Given the description of an element on the screen output the (x, y) to click on. 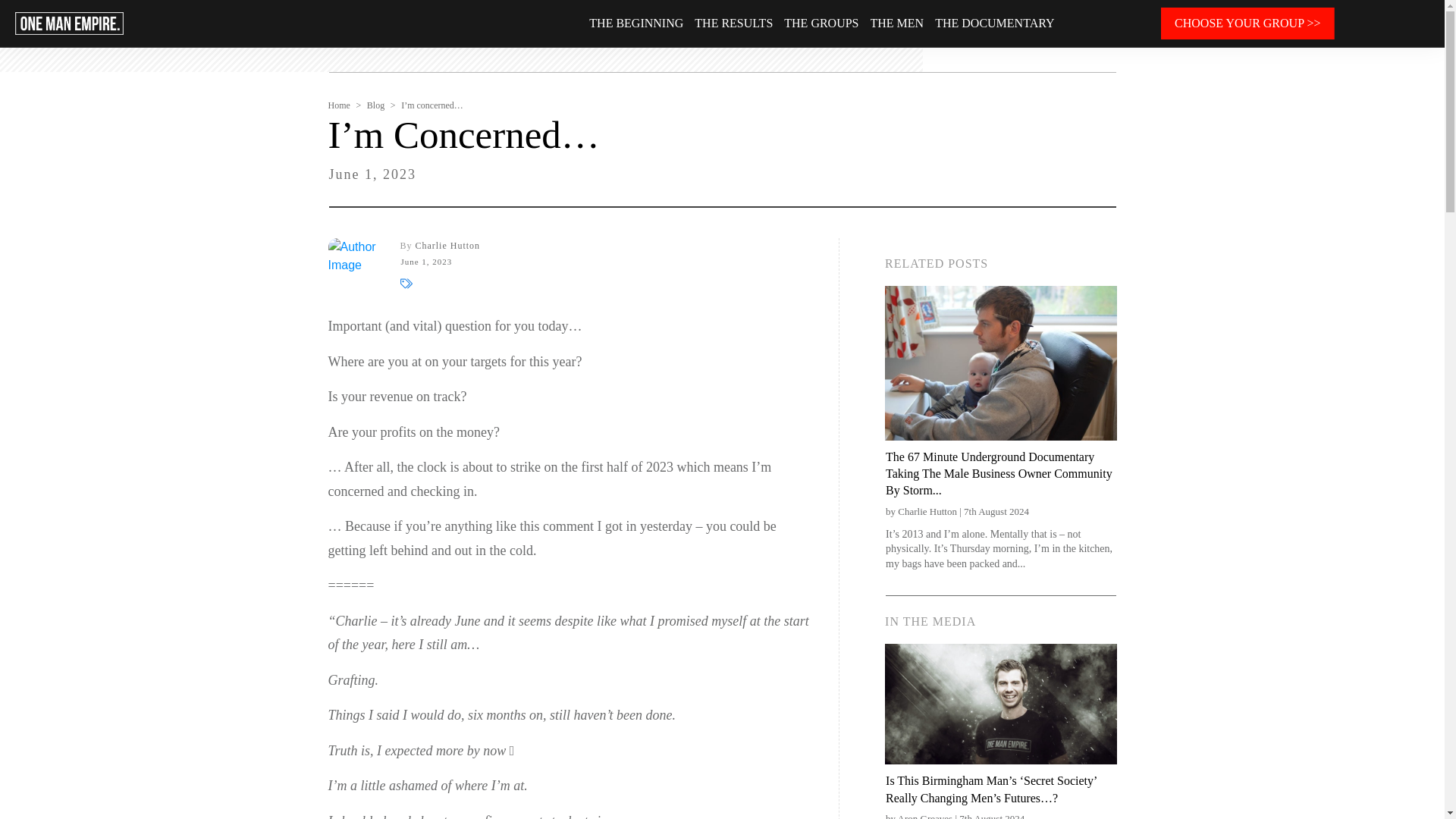
THE BEGINNING (635, 23)
Blog (375, 105)
SP-Post-Head (1000, 703)
undefined (354, 264)
THE MEN (897, 23)
THE GROUPS (821, 23)
THE DOCUMENTARY (994, 23)
THE RESULTS (733, 23)
Home (338, 105)
